Given the description of an element on the screen output the (x, y) to click on. 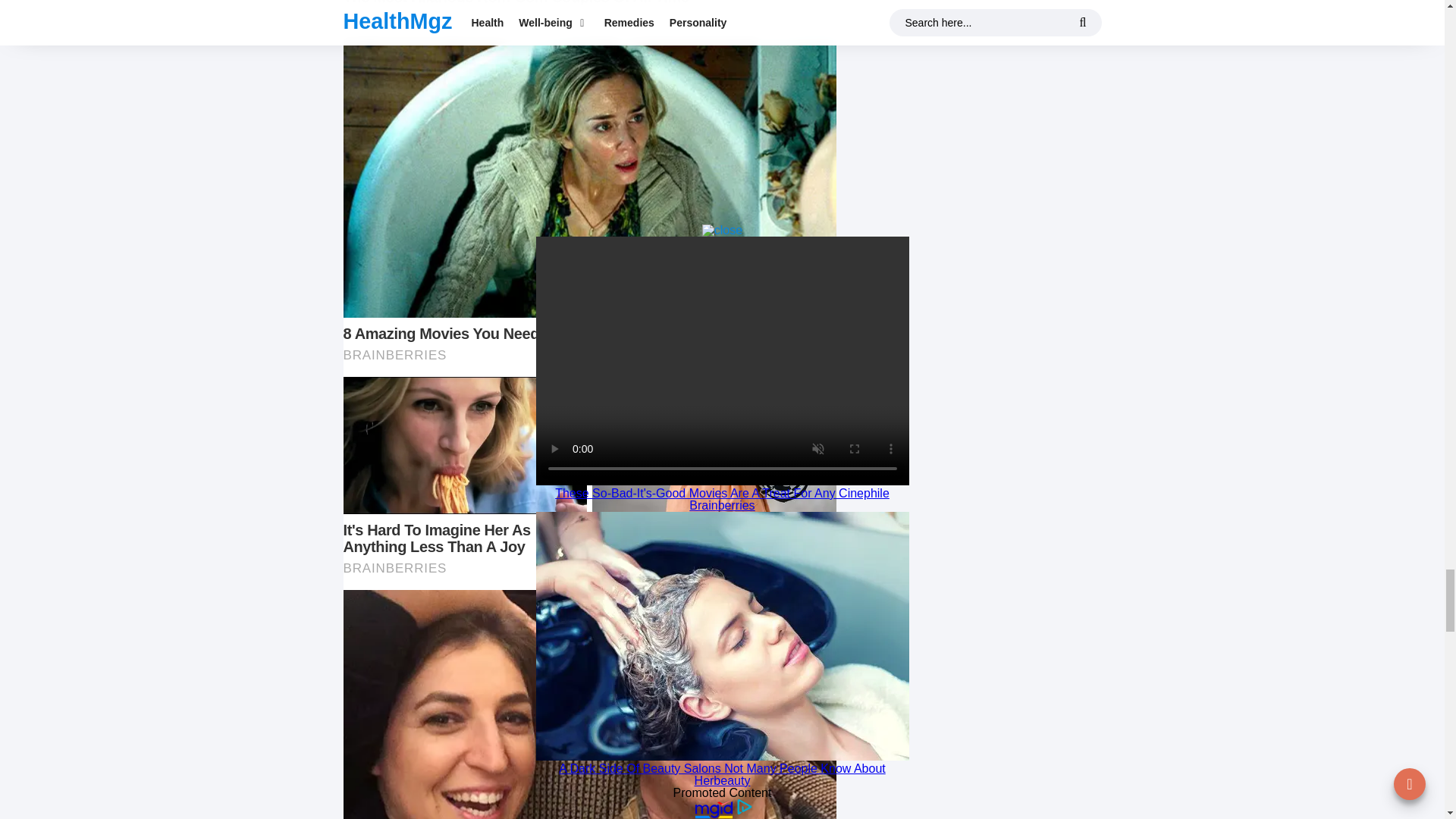
The Most Hilarious Rom-Com Couples Of All Time (515, 2)
